Given the description of an element on the screen output the (x, y) to click on. 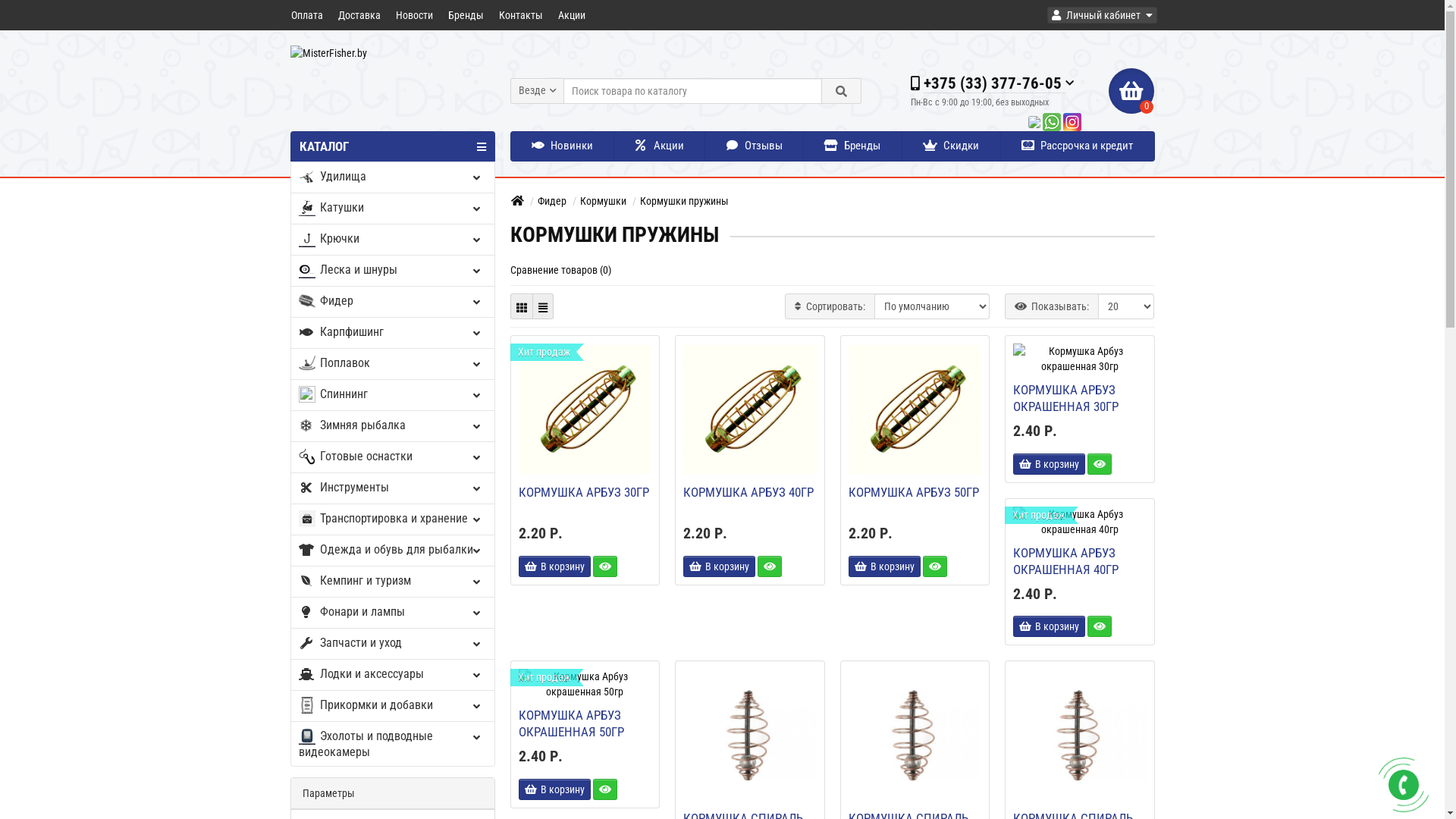
MisterFisher.by Element type: hover (391, 52)
0 Element type: text (1131, 90)
